Given the description of an element on the screen output the (x, y) to click on. 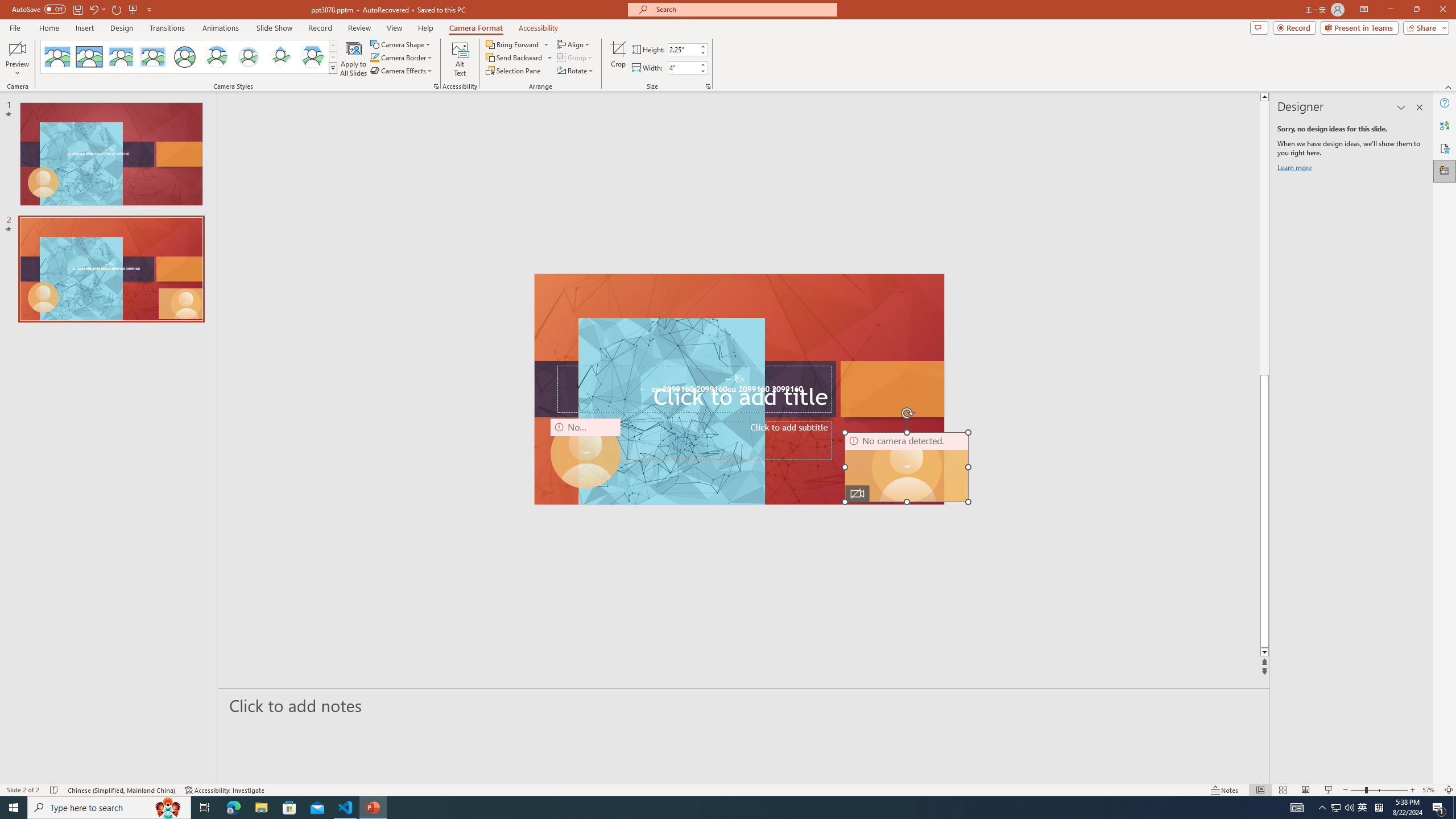
Size and Position... (707, 85)
Camera Effects (402, 69)
